Given the description of an element on the screen output the (x, y) to click on. 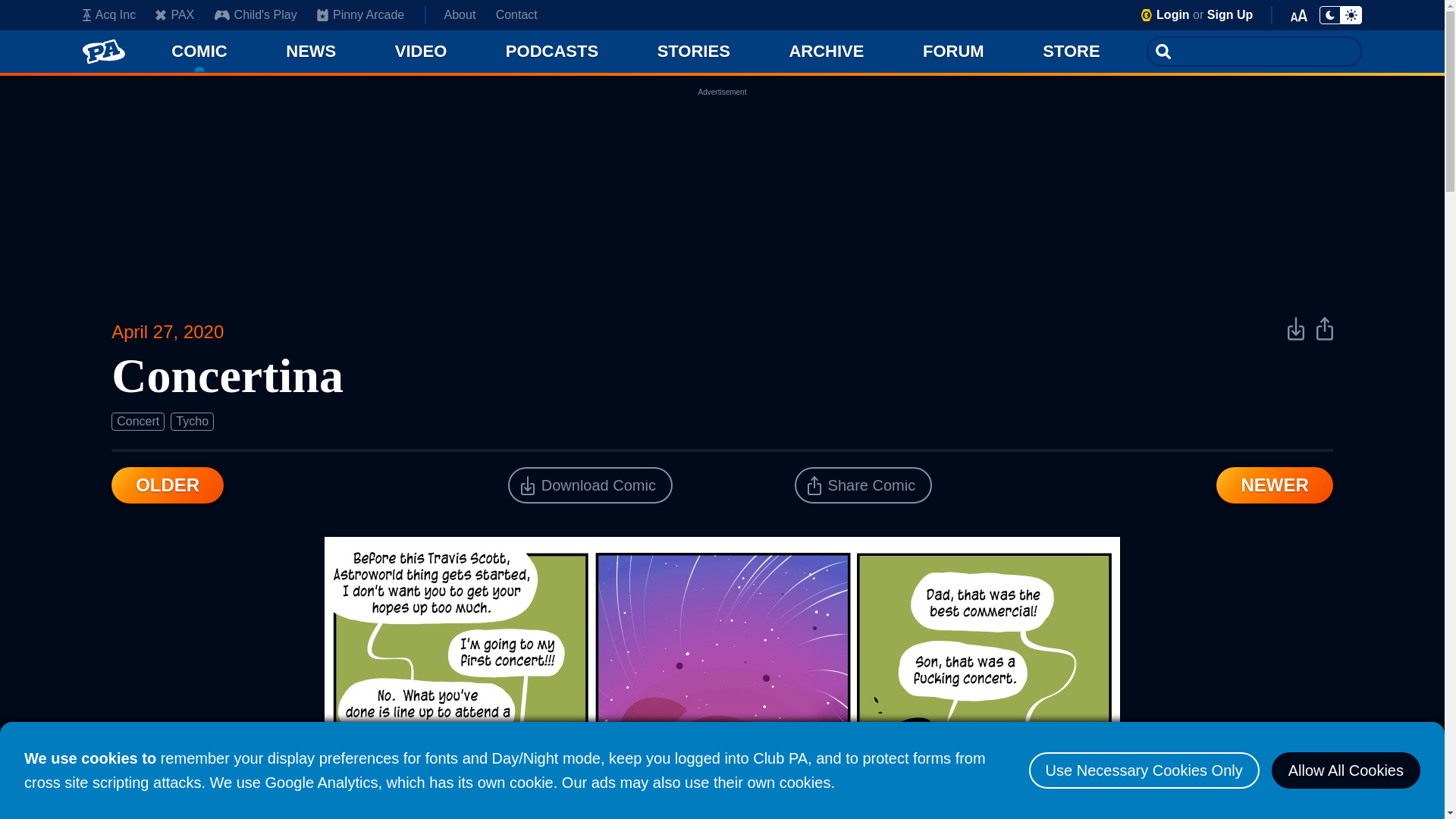
Login (1172, 14)
Pinny Arcade (360, 14)
Allow All Cookies (1346, 770)
Acq Inc (108, 14)
PAX (174, 14)
Use Necessary Cookies Only (1144, 770)
Contact (516, 14)
Child's Play (255, 14)
About (460, 14)
